Given the description of an element on the screen output the (x, y) to click on. 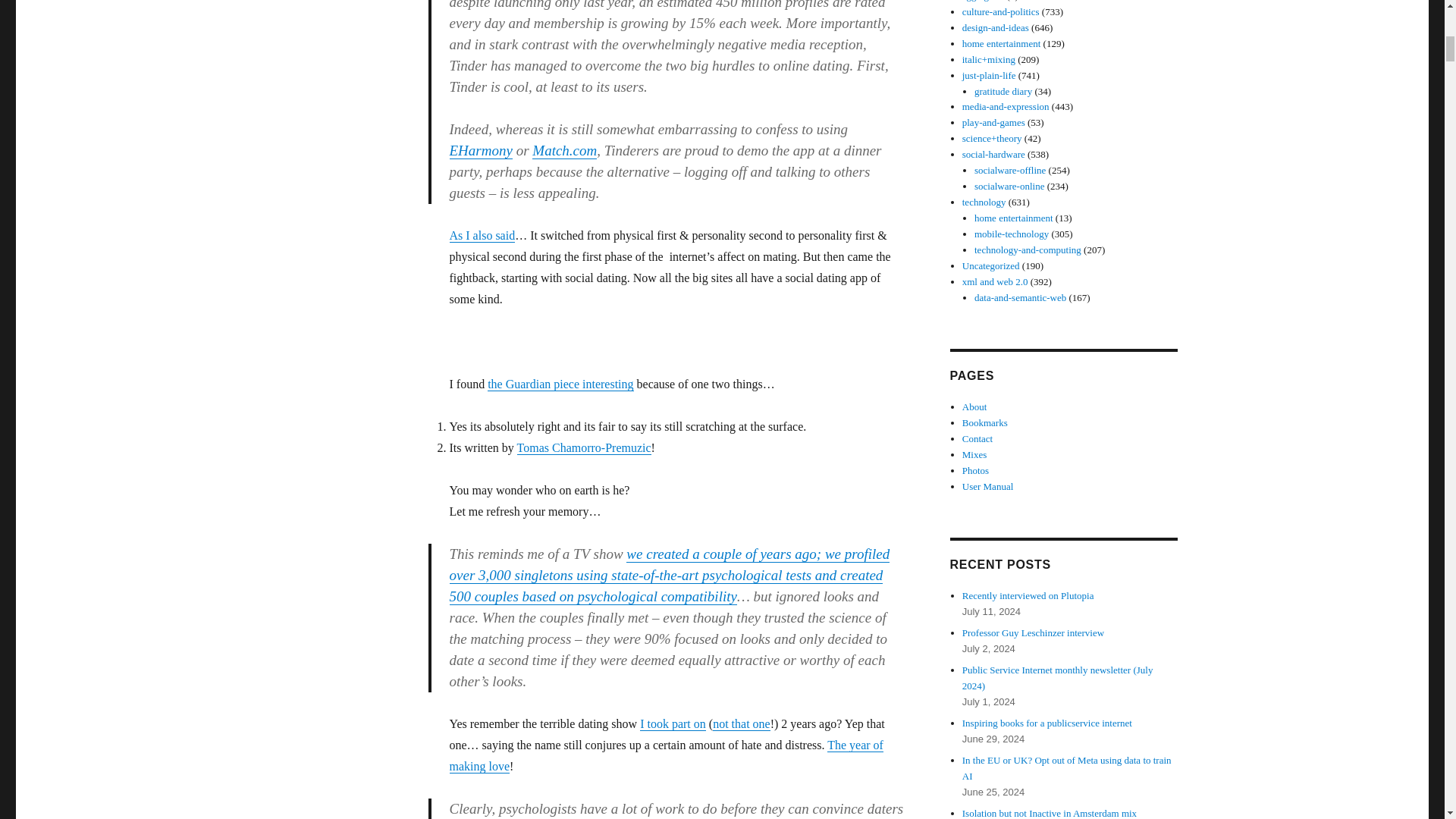
As I also said (481, 235)
I took part on (673, 723)
Tomas Chamorro-Premuzic (583, 447)
Match.com (564, 150)
The year of making love (665, 755)
EHarmony (480, 150)
the Guardian piece interesting (560, 383)
not that one (741, 723)
